Given the description of an element on the screen output the (x, y) to click on. 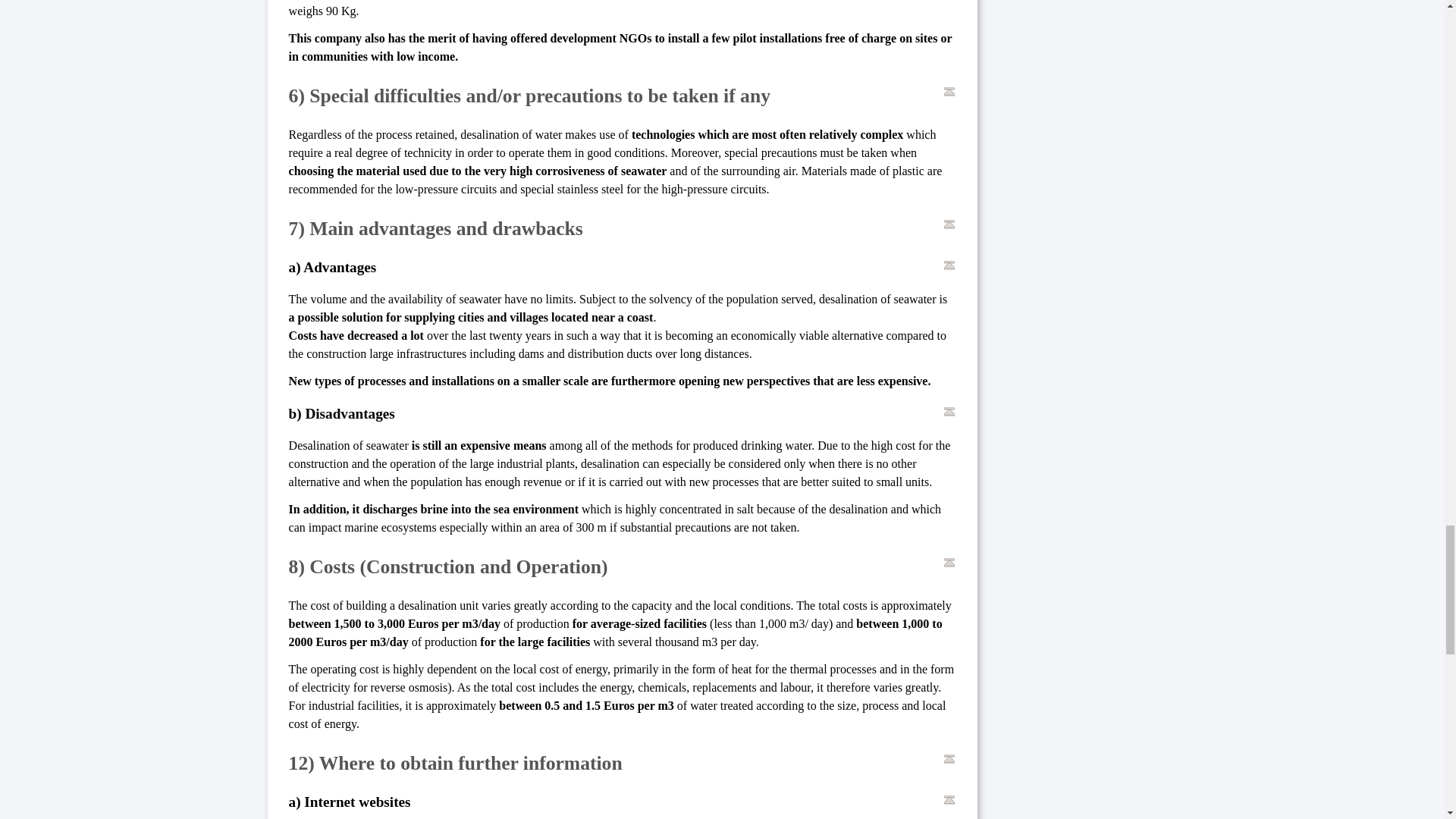
Back to the table of contents (949, 224)
Back to the table of contents (949, 265)
Back to the table of contents (949, 91)
